Given the description of an element on the screen output the (x, y) to click on. 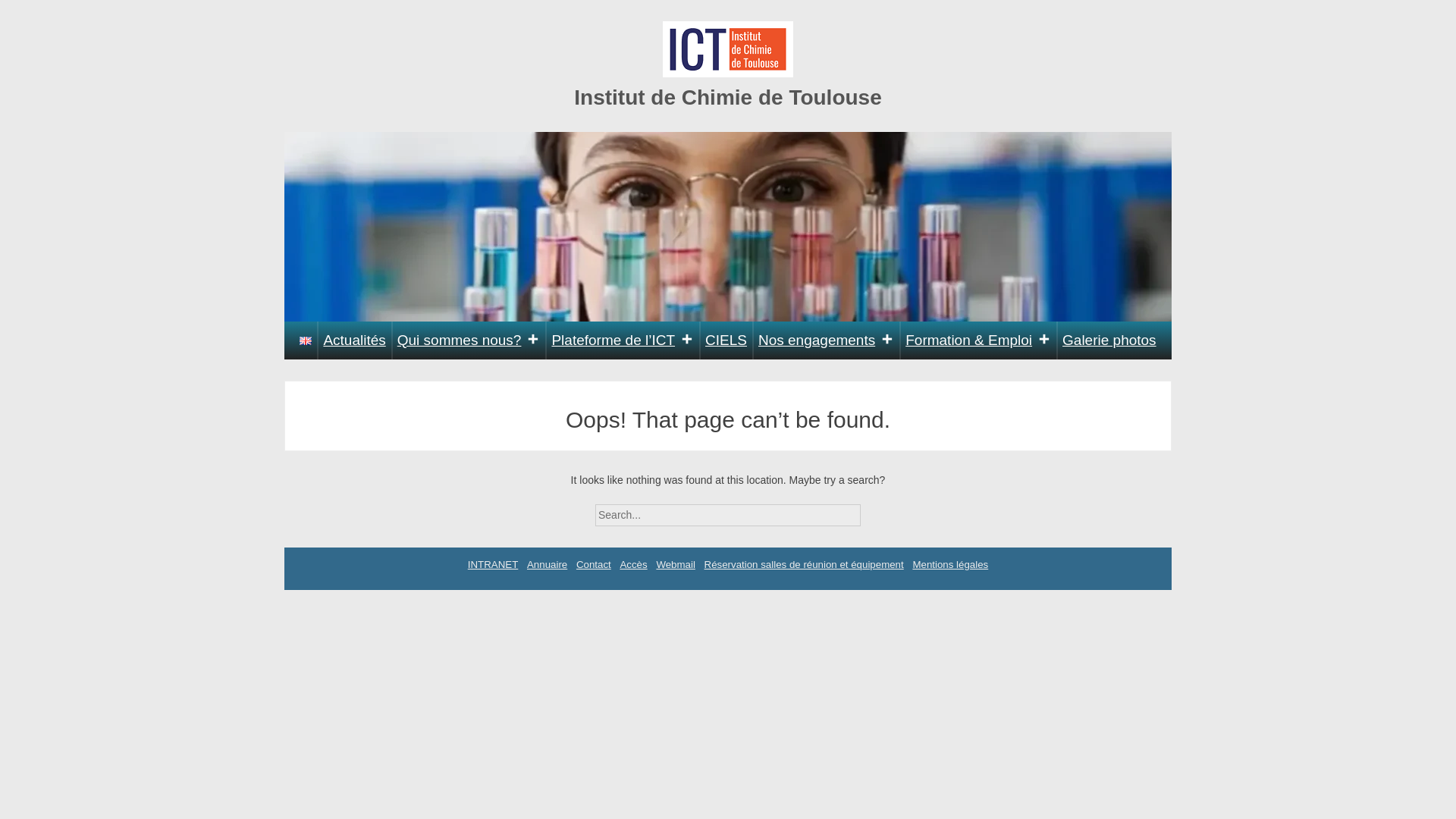
Search (873, 509)
Search (873, 509)
CIELS (726, 340)
Nos engagements (825, 340)
Institut de Chimie de Toulouse (727, 97)
Qui sommes nous? (468, 340)
